Given the description of an element on the screen output the (x, y) to click on. 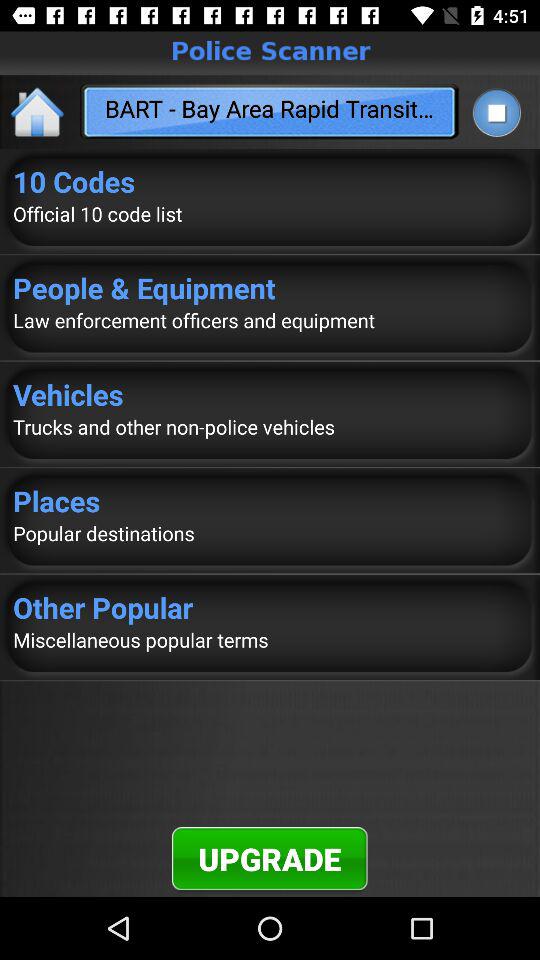
return to home screen (38, 111)
